Given the description of an element on the screen output the (x, y) to click on. 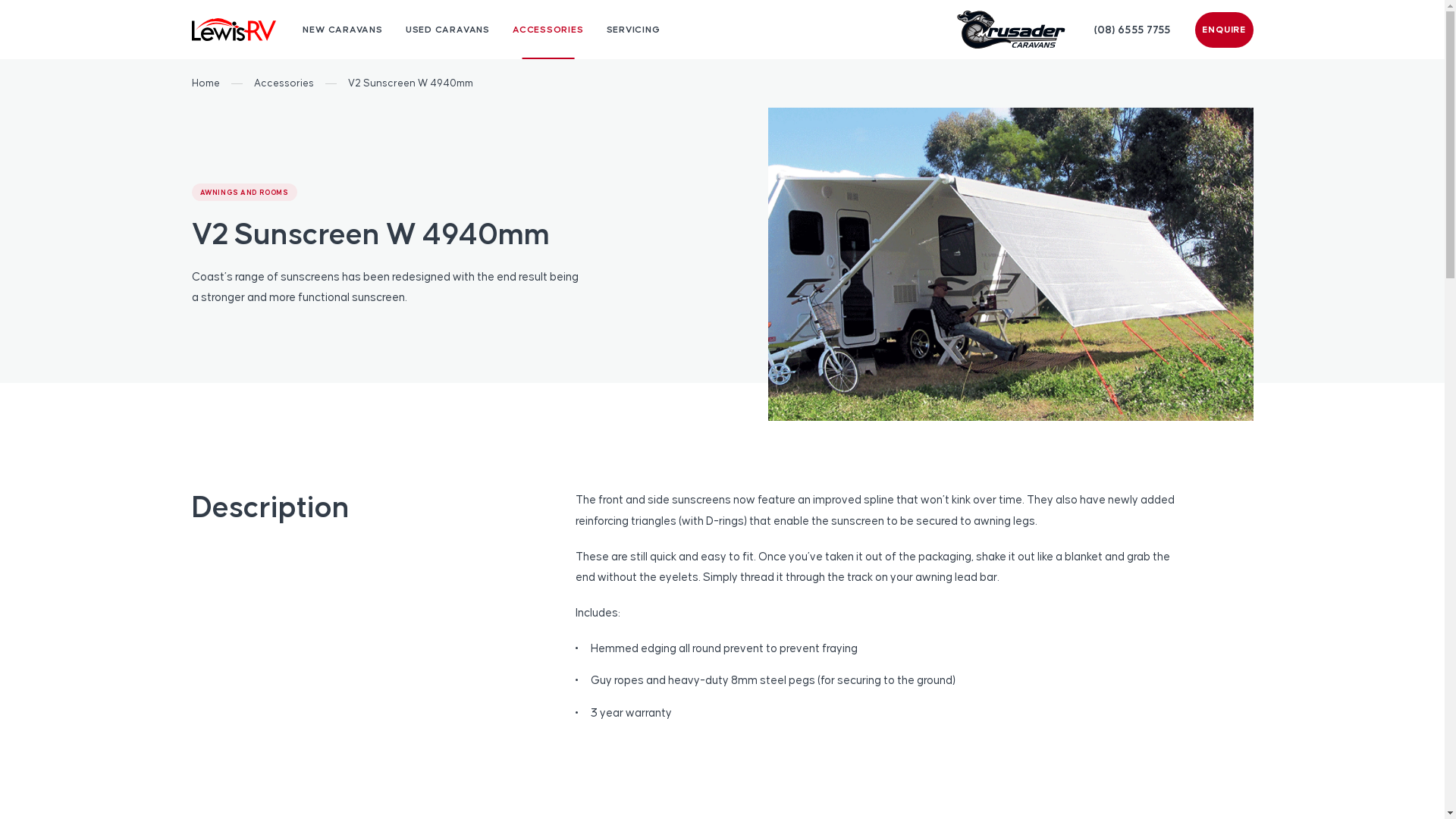
Accessories Element type: text (282, 83)
(08) 6555 7755 Element type: text (1132, 29)
Home Element type: text (204, 83)
ACCESSORIES Element type: text (548, 29)
SERVICING Element type: text (633, 29)
NEW CARAVANS Element type: text (342, 29)
AWNINGS AND ROOMS Element type: text (243, 191)
USED CARAVANS Element type: text (447, 29)
ENQUIRY FORM
ENQUIRE Element type: text (1224, 29)
Lewis RV Element type: hover (234, 29)
